Given the description of an element on the screen output the (x, y) to click on. 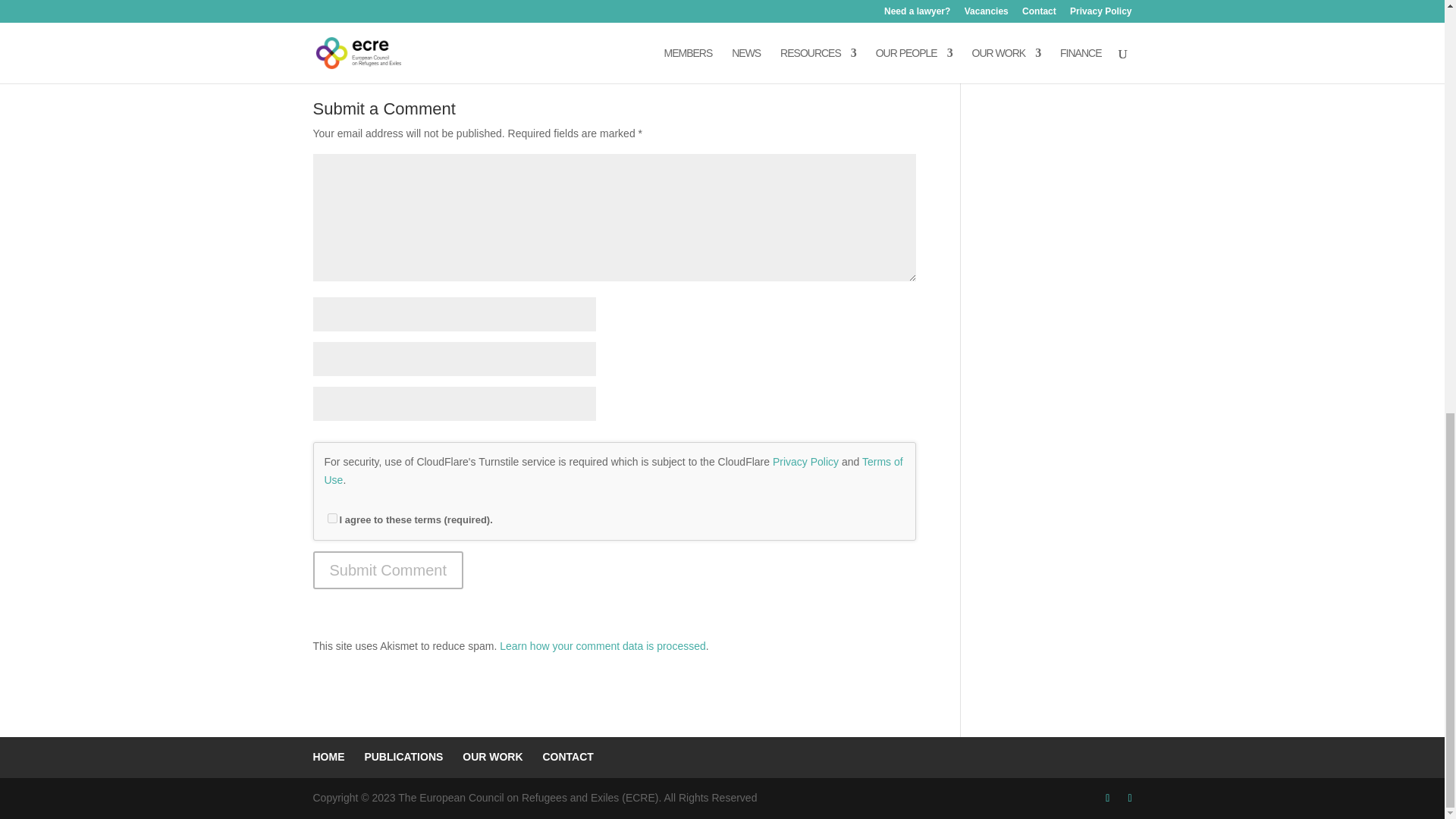
Submit Comment (388, 569)
on (332, 518)
